Given the description of an element on the screen output the (x, y) to click on. 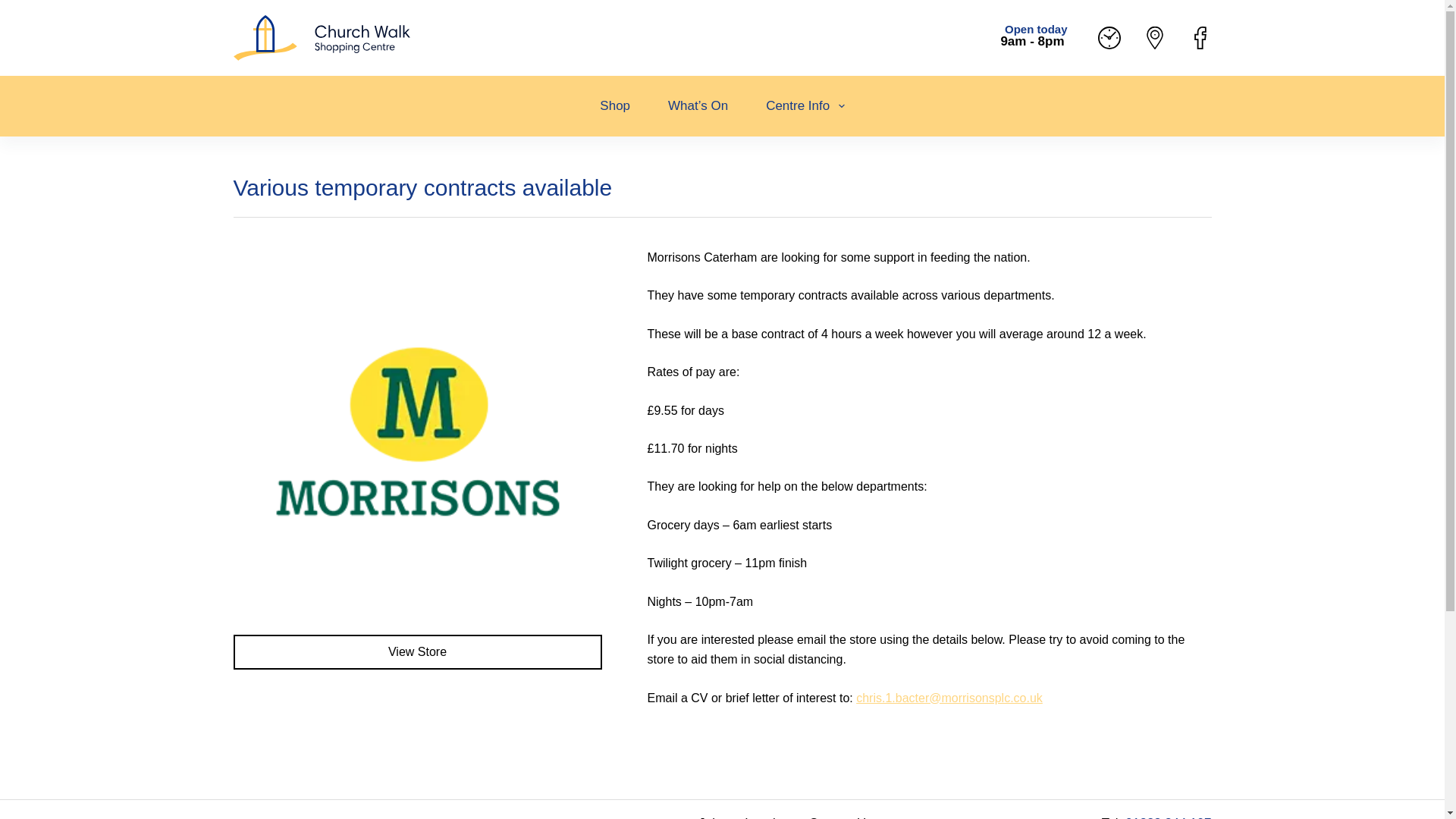
Various temporary contracts available (721, 195)
Leasing (767, 816)
Contact Us (840, 816)
01883 344 197 (1168, 817)
Shop (614, 106)
Skip to content (15, 7)
View Store (417, 651)
Jobs (711, 816)
Centre Info (804, 106)
